Given the description of an element on the screen output the (x, y) to click on. 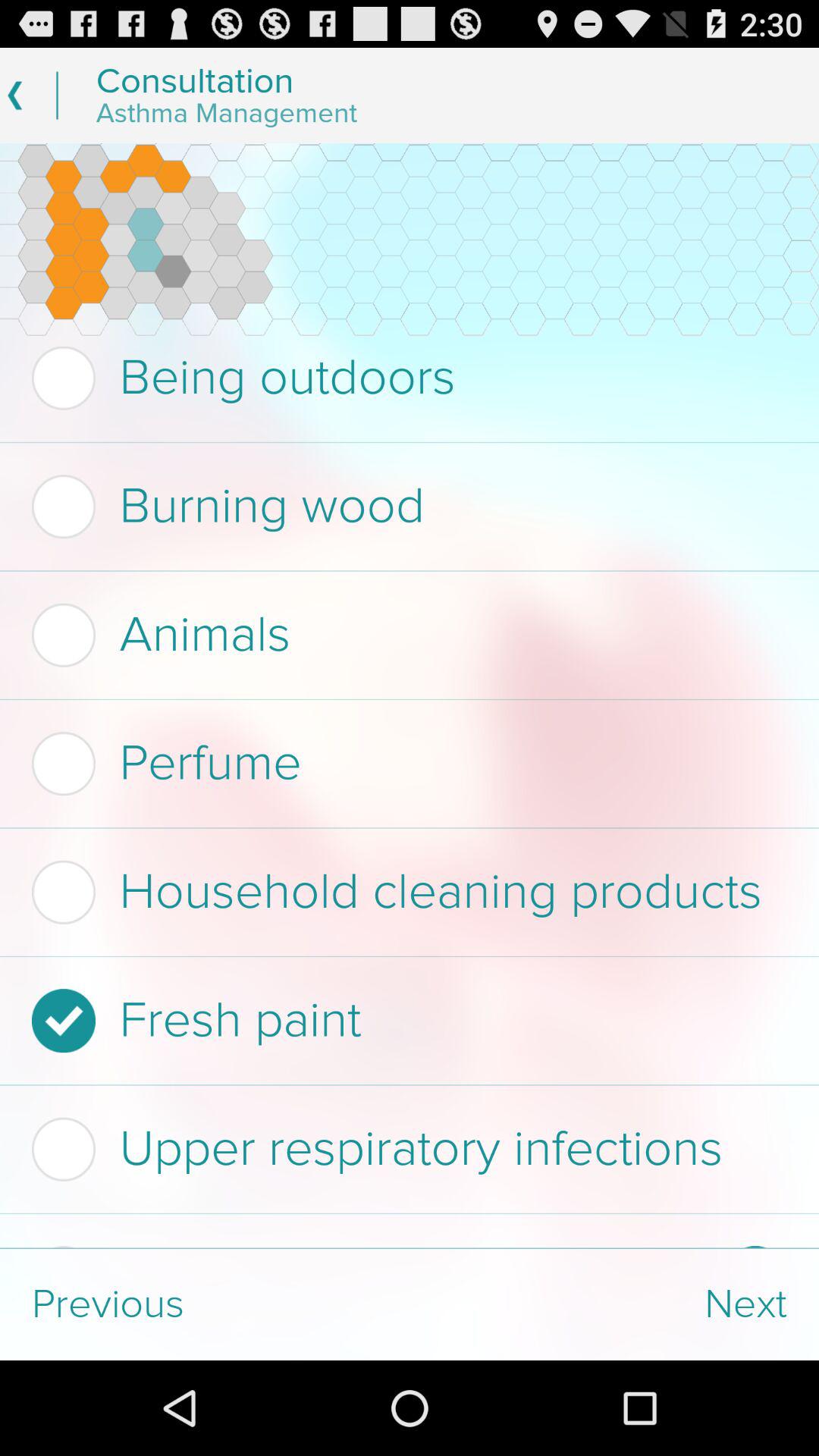
select item above sulfites in food item (405, 1149)
